Given the description of an element on the screen output the (x, y) to click on. 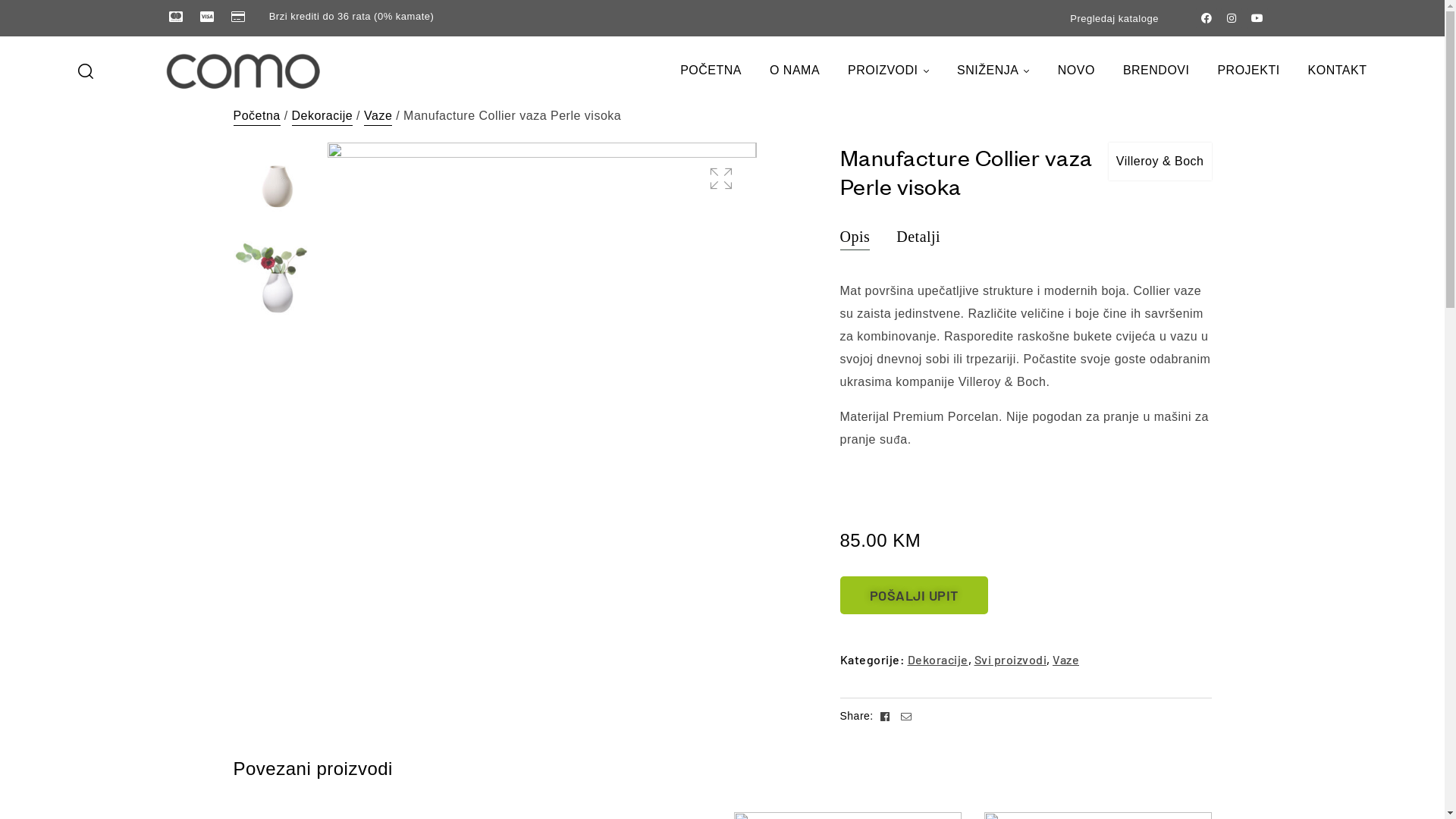
PROJEKTI Element type: text (1247, 70)
BRENDOVI Element type: text (1155, 70)
Vaza-Carre-bublasta1 Element type: hover (541, 356)
Svi proizvodi Element type: text (1009, 659)
KONTAKT Element type: text (1337, 70)
Opis Element type: text (855, 236)
Dekoracije Element type: text (936, 659)
      Brzi krediti do 36 rata (0% kamate) Element type: text (332, 16)
PROIZVODI Element type: text (888, 70)
NOVO Element type: text (1076, 70)
Vaze Element type: text (1065, 659)
Vaza-Carre-bublasta Element type: hover (970, 356)
Facebook Element type: text (886, 715)
Detalji Element type: text (918, 236)
Email Element type: text (906, 715)
O NAMA Element type: text (794, 70)
Pregledaj kataloge Element type: text (1114, 17)
Dekoracije Element type: text (322, 115)
Vaze Element type: text (378, 115)
Villeroy & Boch Element type: text (1159, 161)
